Given the description of an element on the screen output the (x, y) to click on. 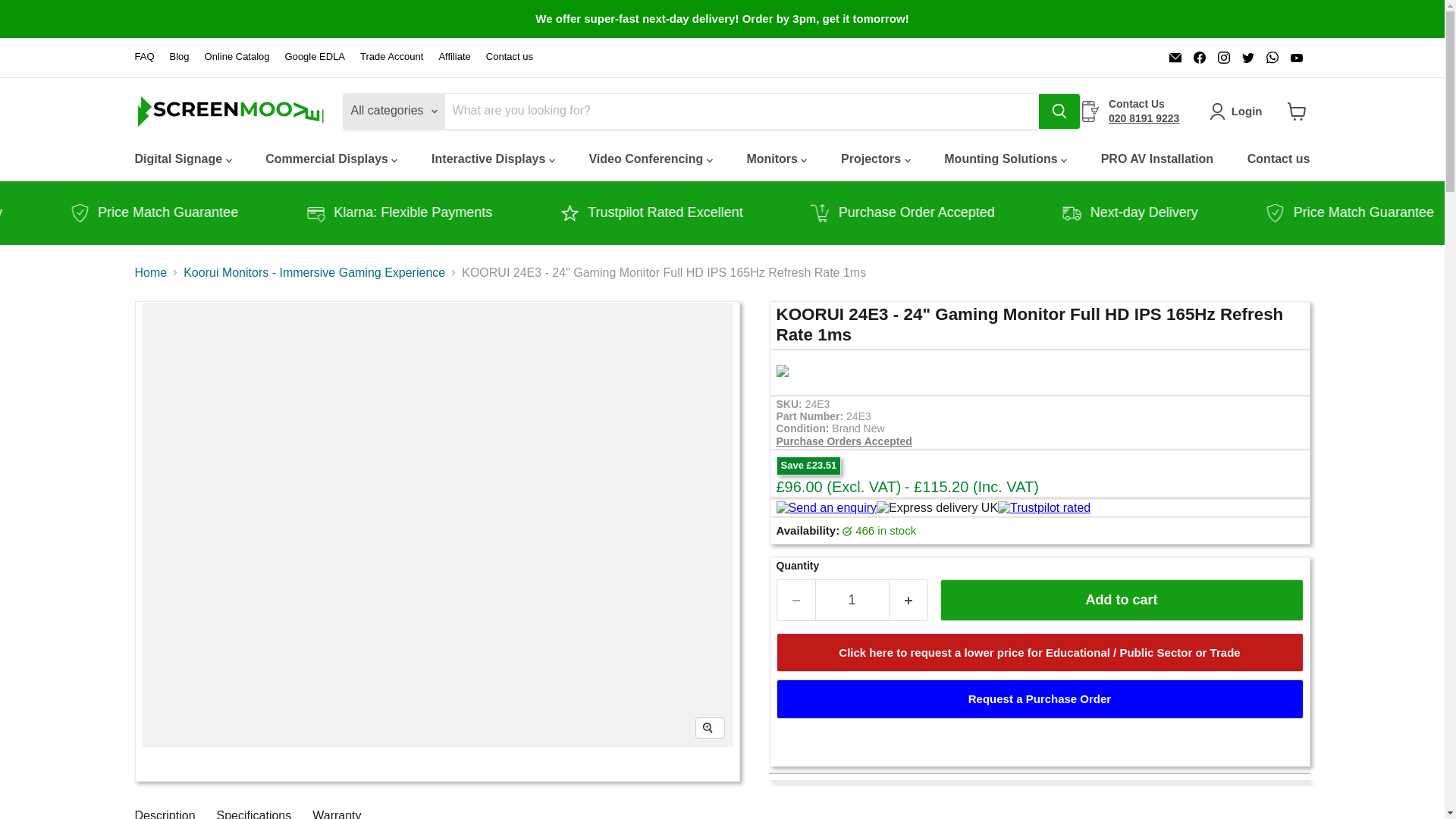
Find us on Instagram (1223, 56)
Instagram (1223, 56)
tel:02081919223 (1143, 118)
Trustpilot Rated Excellent (723, 212)
YouTube (1296, 56)
Affiliate (454, 57)
Trade Account (391, 57)
Contact us (509, 57)
Twitter (1248, 56)
Blog (179, 57)
